Given the description of an element on the screen output the (x, y) to click on. 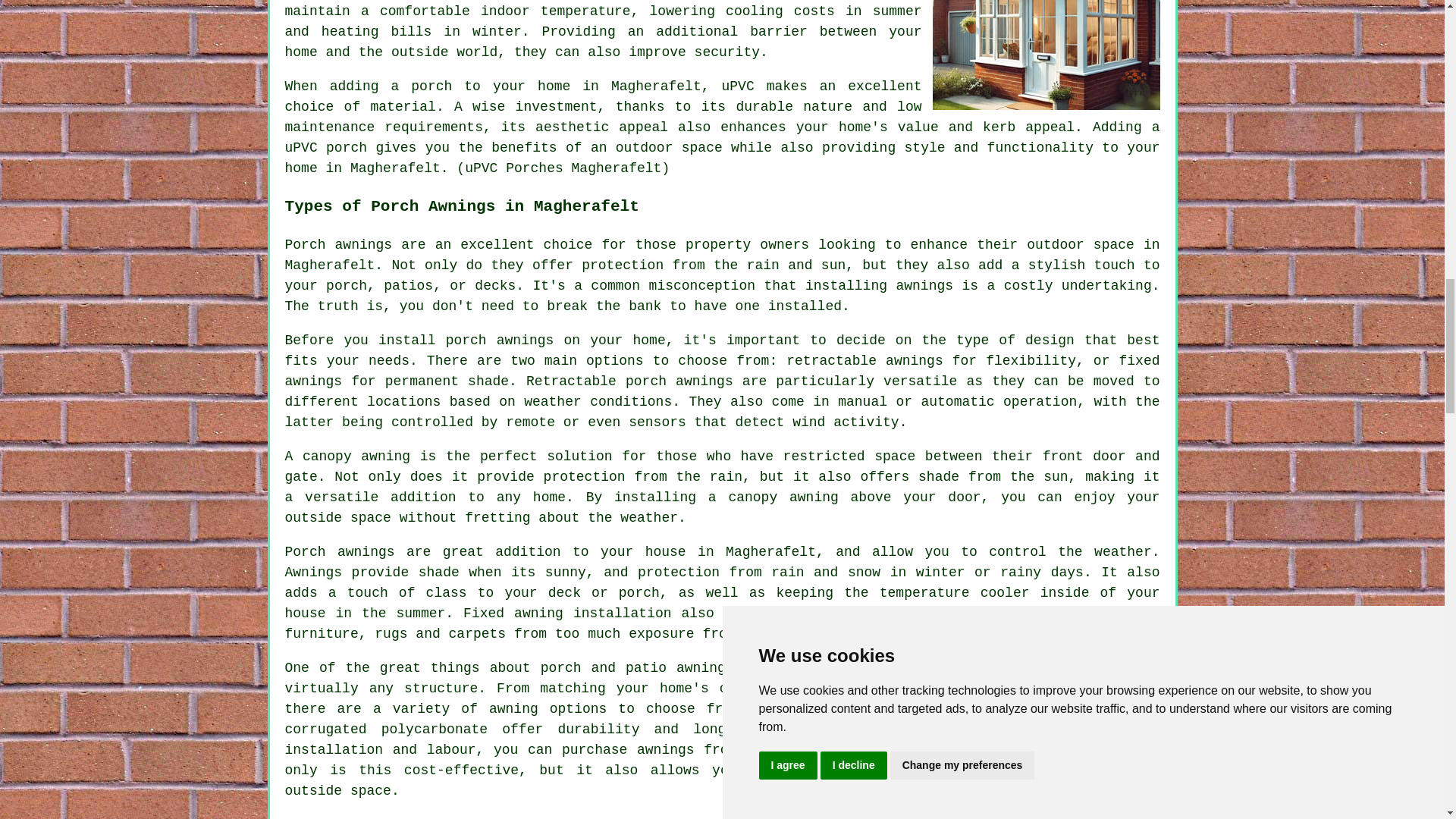
Porch awnings (339, 243)
uPVC Porches Magherafelt (1046, 54)
a porch (421, 86)
a uPVC porch (722, 137)
